Given the description of an element on the screen output the (x, y) to click on. 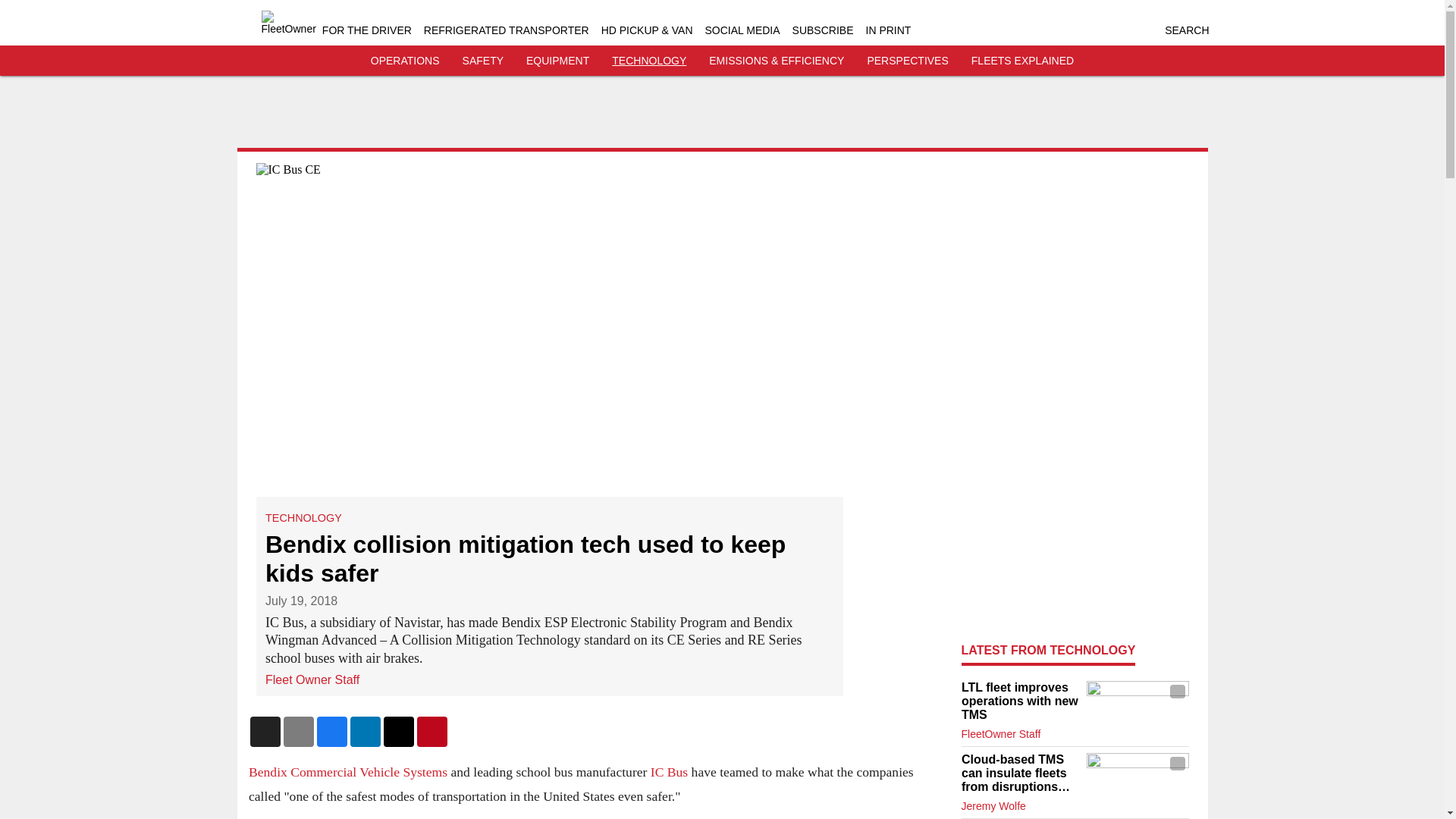
SOCIAL MEDIA (742, 30)
FLEETS EXPLAINED (1022, 60)
SUBSCRIBE (822, 30)
OPERATIONS (405, 60)
PERSPECTIVES (906, 60)
TECHNOLOGY (648, 60)
IC Bus (668, 771)
Fleet Owner Staff (311, 679)
TECHNOLOGY (303, 517)
FOR THE DRIVER (366, 30)
EQUIPMENT (557, 60)
Bendix Commercial Vehicle Systems (347, 771)
REFRIGERATED TRANSPORTER (506, 30)
IN PRINT (888, 30)
